Given the description of an element on the screen output the (x, y) to click on. 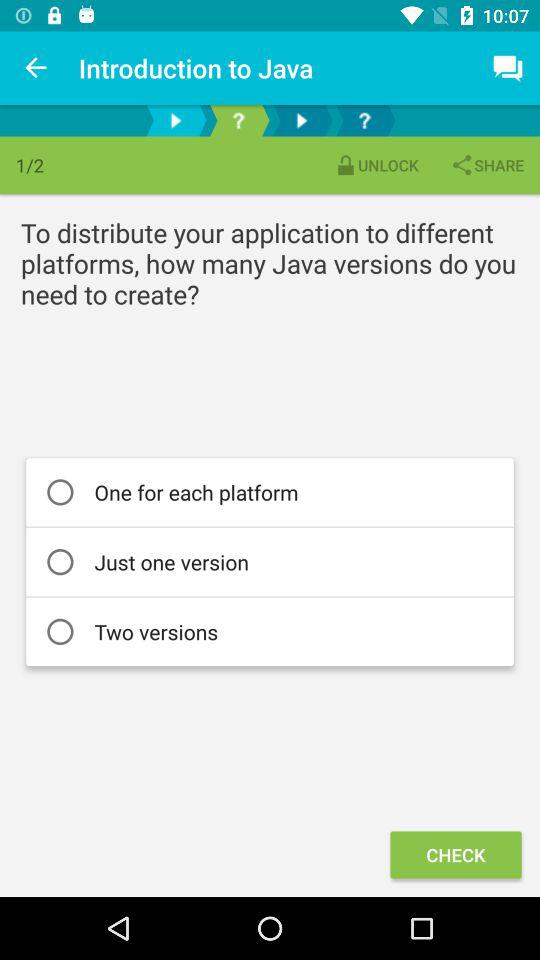
click on the play button which is between the question mark symbols (301, 120)
click on the message icon (508, 68)
select the first option below introduction to java (175, 120)
